Given the description of an element on the screen output the (x, y) to click on. 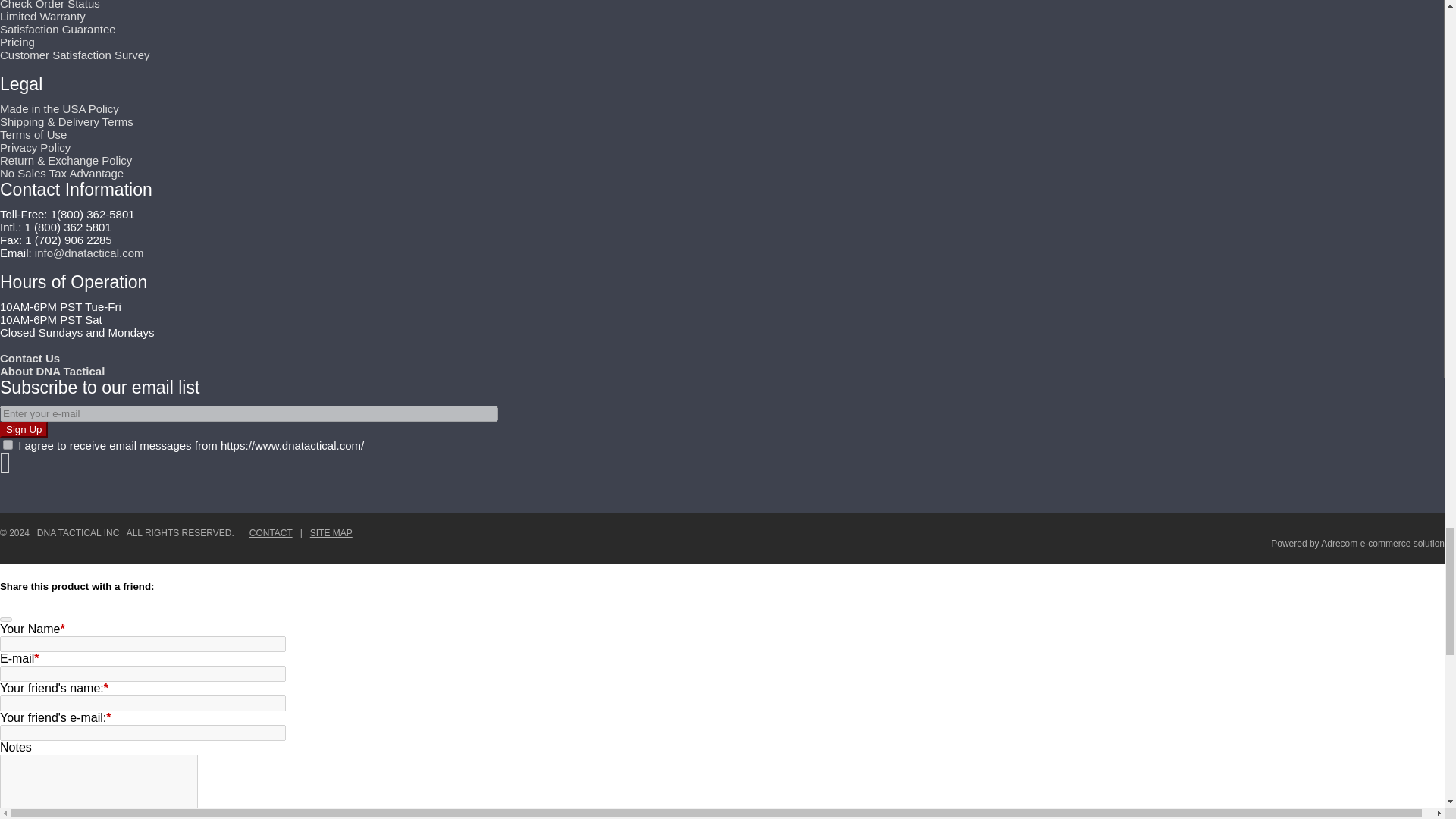
Sign Up (24, 429)
1 (7, 444)
